Given the description of an element on the screen output the (x, y) to click on. 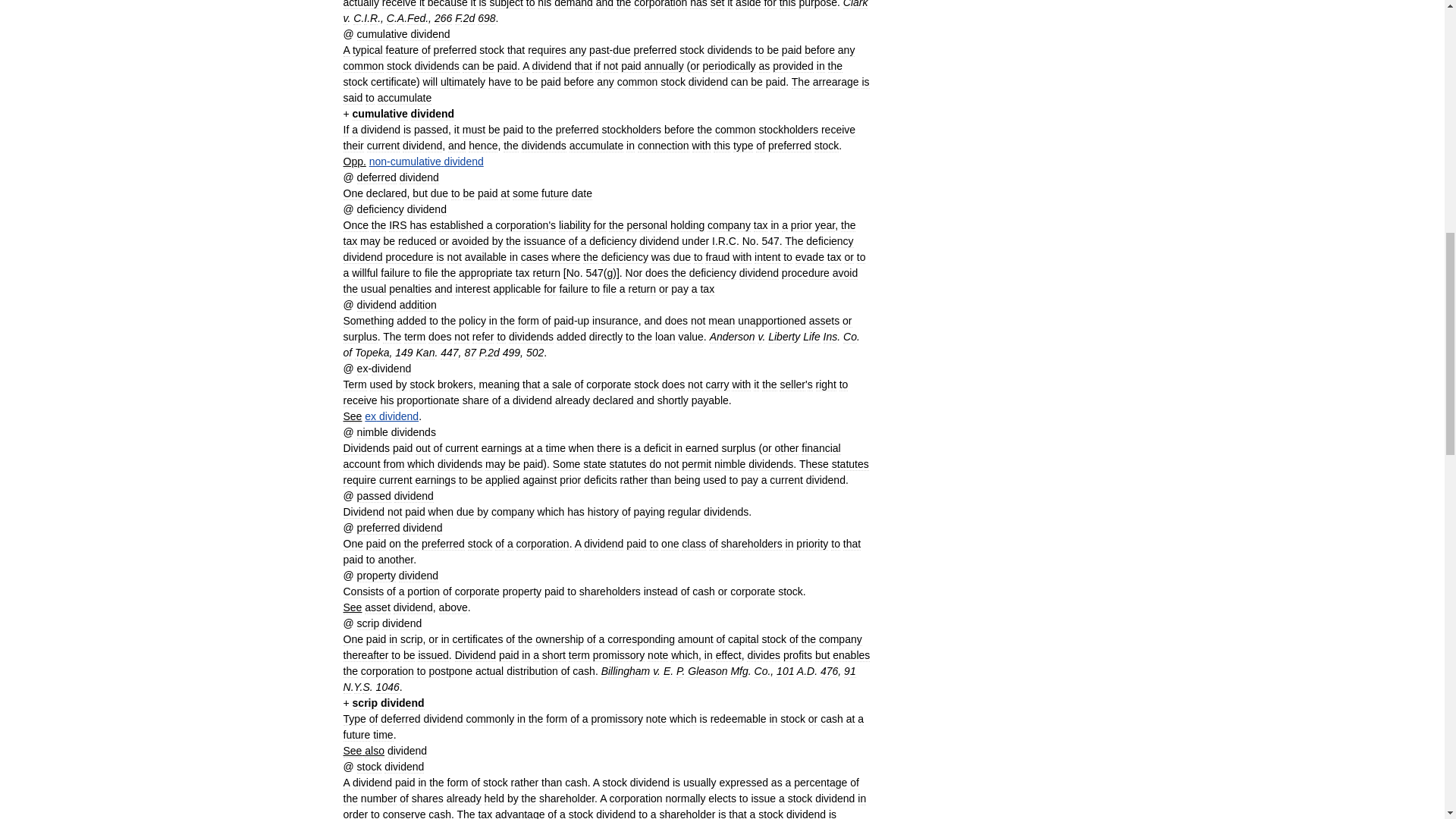
non-cumulative dividend (426, 161)
ex dividend (392, 416)
